Given the description of an element on the screen output the (x, y) to click on. 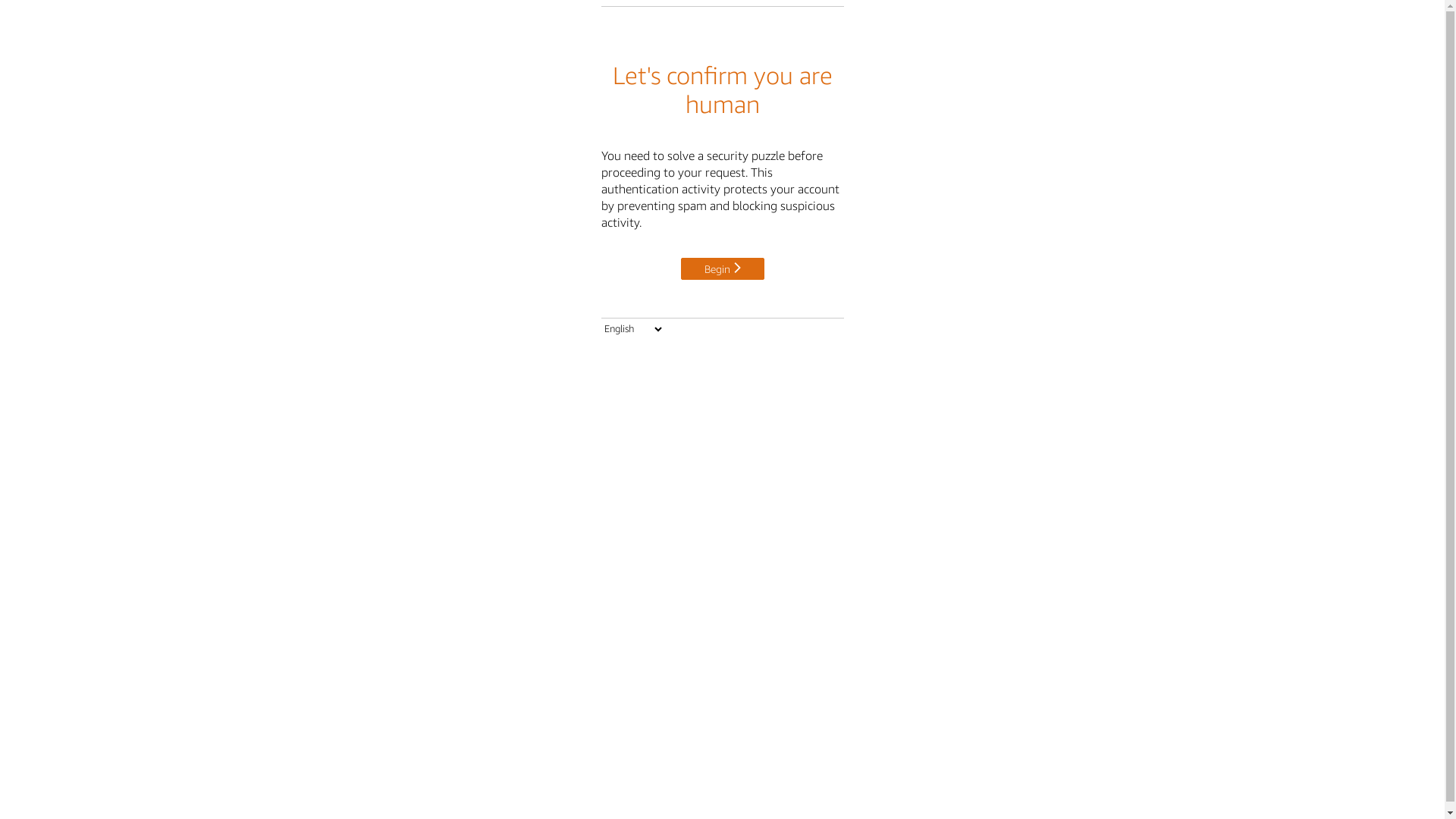
Begin Element type: text (722, 268)
